Given the description of an element on the screen output the (x, y) to click on. 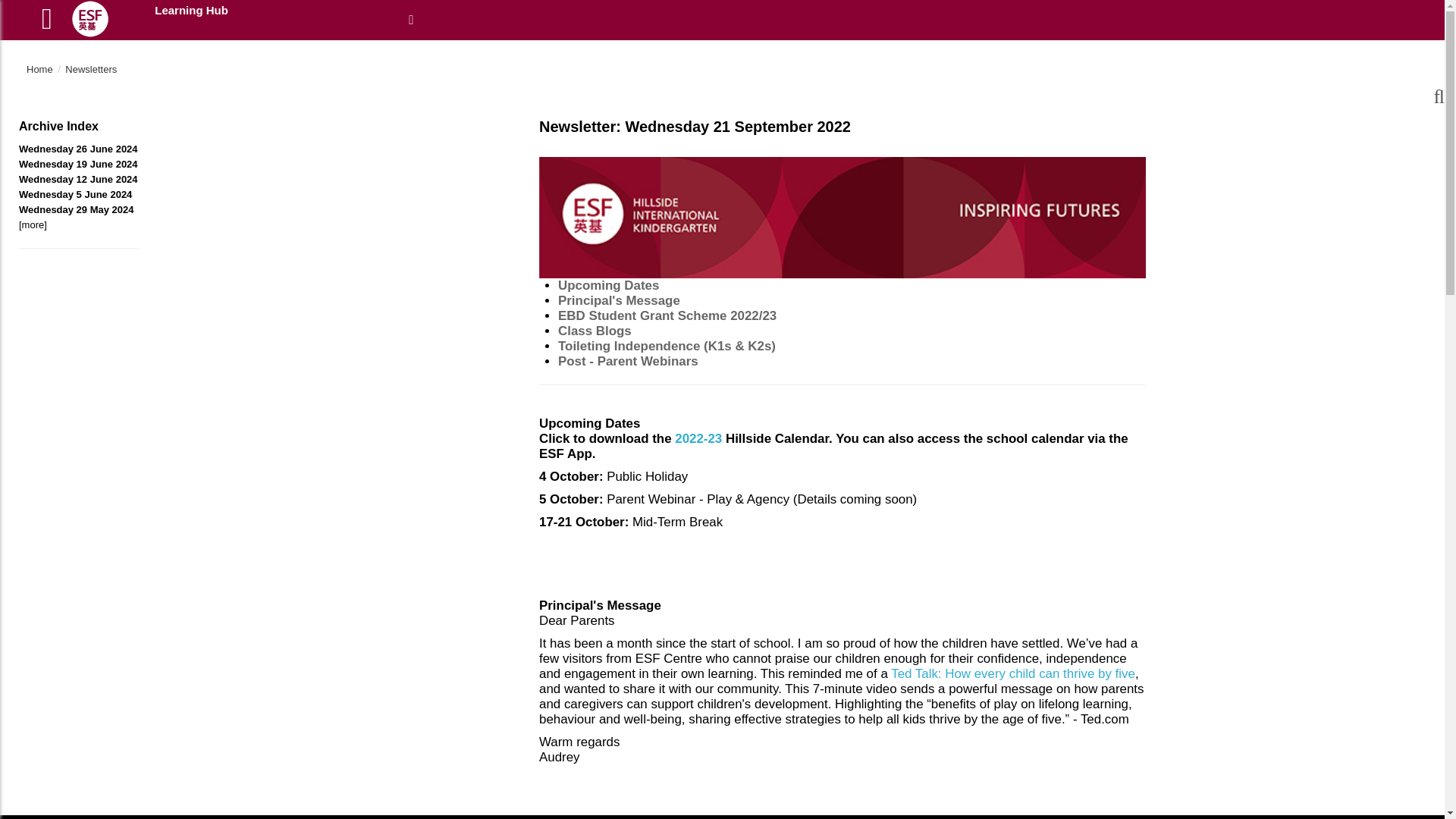
Wednesday 29 May 2024 (75, 209)
Wednesday 12 June 2024 (78, 179)
Wednesday 26 June 2024 (78, 148)
Home (39, 69)
Wednesday 19 June 2024 (78, 163)
Learning Hub (268, 10)
Newsletters (90, 69)
Wednesday 5 June 2024 (75, 194)
